Given the description of an element on the screen output the (x, y) to click on. 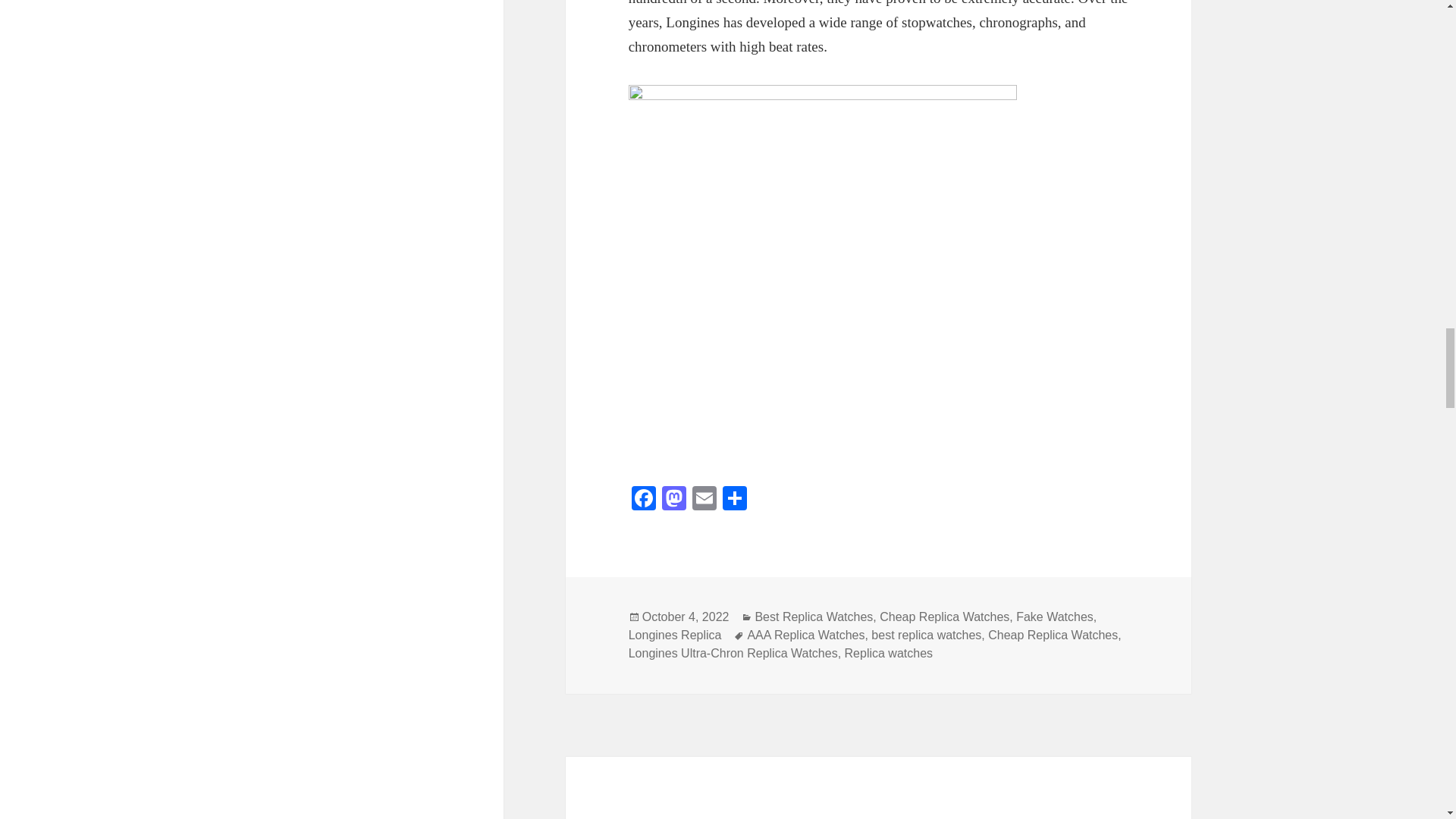
Mastodon (673, 500)
Email (703, 500)
Facebook (643, 500)
